Given the description of an element on the screen output the (x, y) to click on. 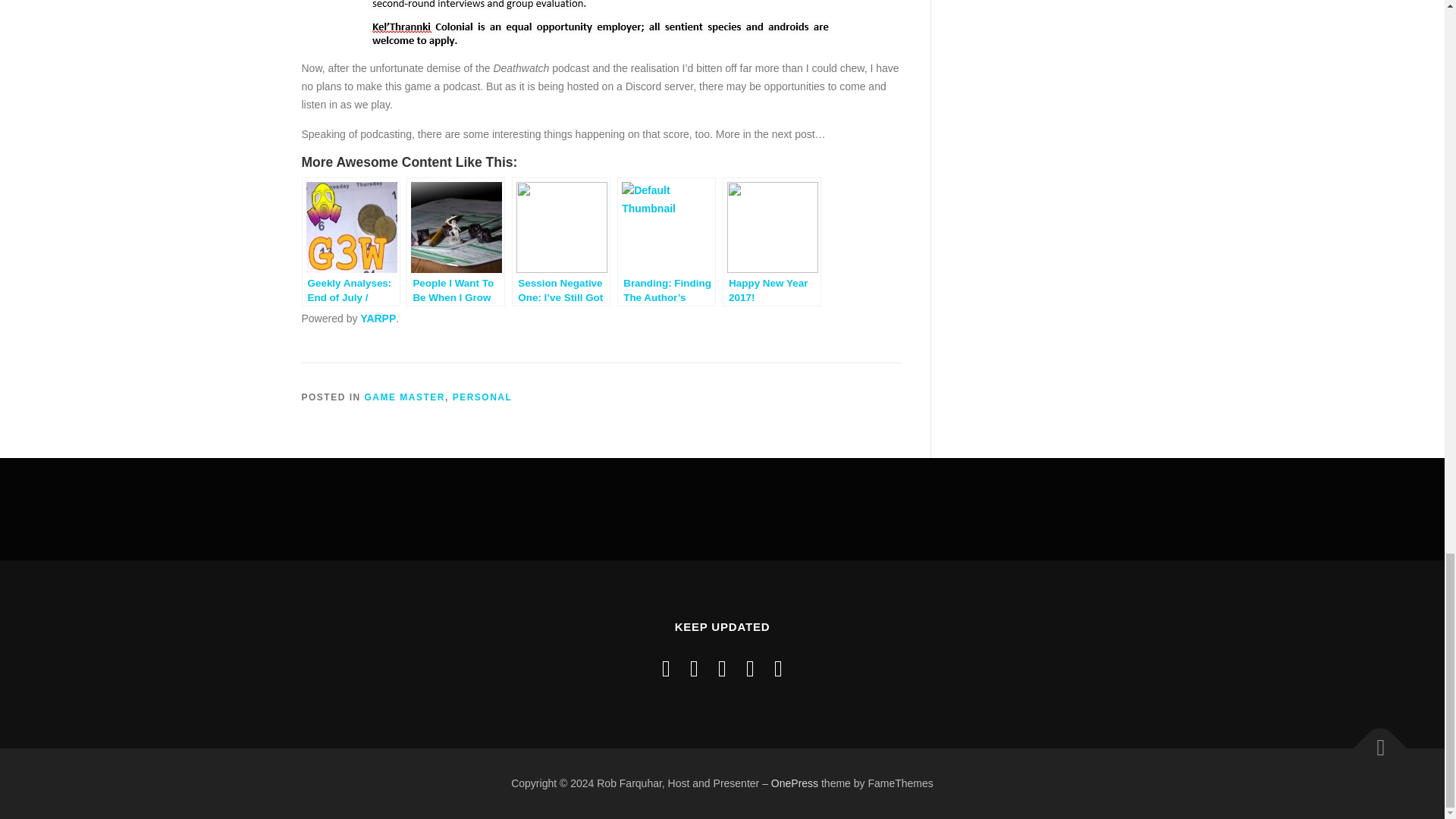
YARPP (377, 318)
WordPress Related Posts (377, 318)
PERSONAL (482, 397)
Back To Top (1372, 740)
GAME MASTER (405, 397)
